Given the description of an element on the screen output the (x, y) to click on. 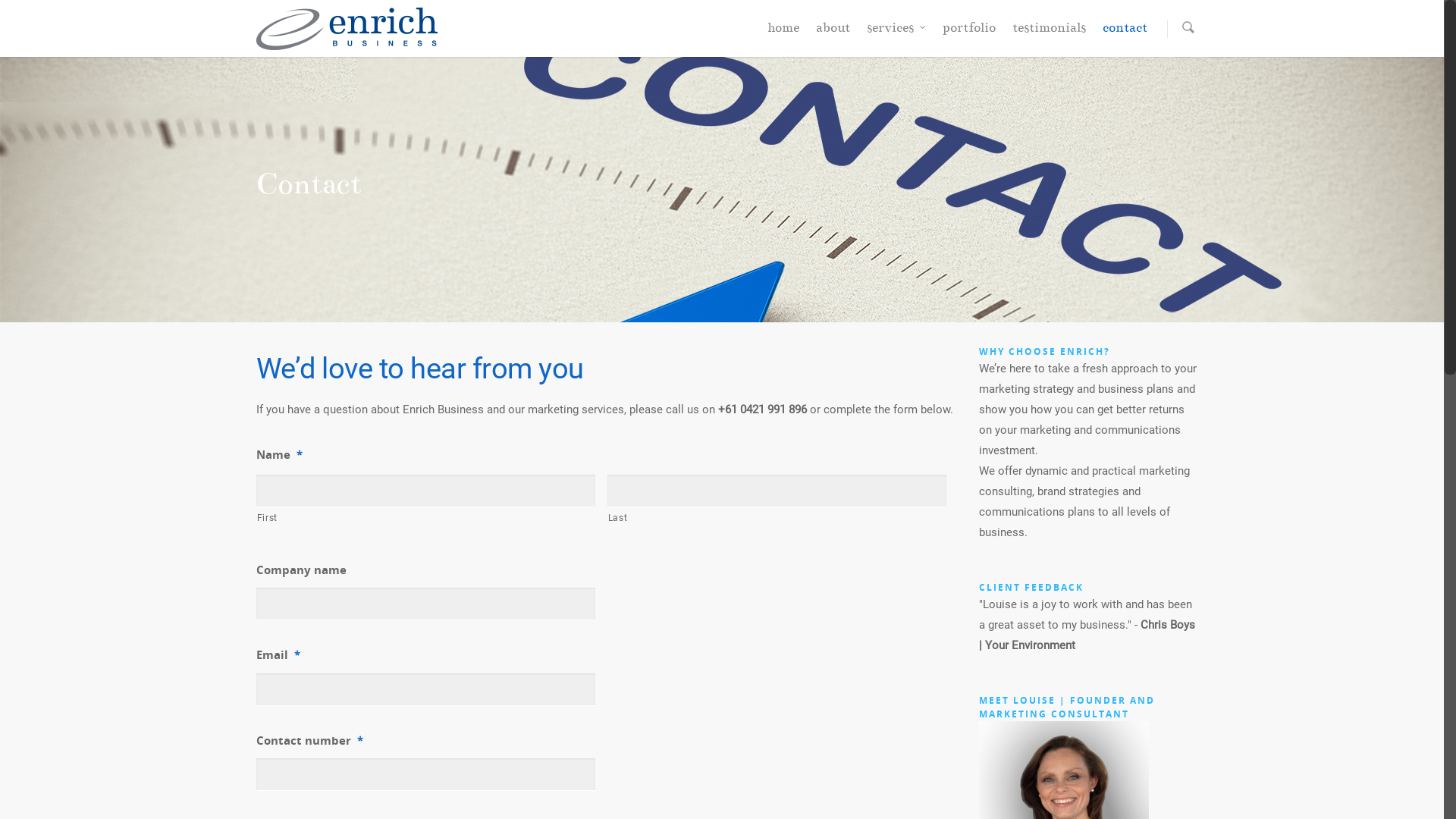
services Element type: text (895, 31)
about Element type: text (832, 31)
contact Element type: text (1124, 31)
testimonials Element type: text (1048, 31)
home Element type: text (782, 31)
portfolio Element type: text (968, 31)
